Given the description of an element on the screen output the (x, y) to click on. 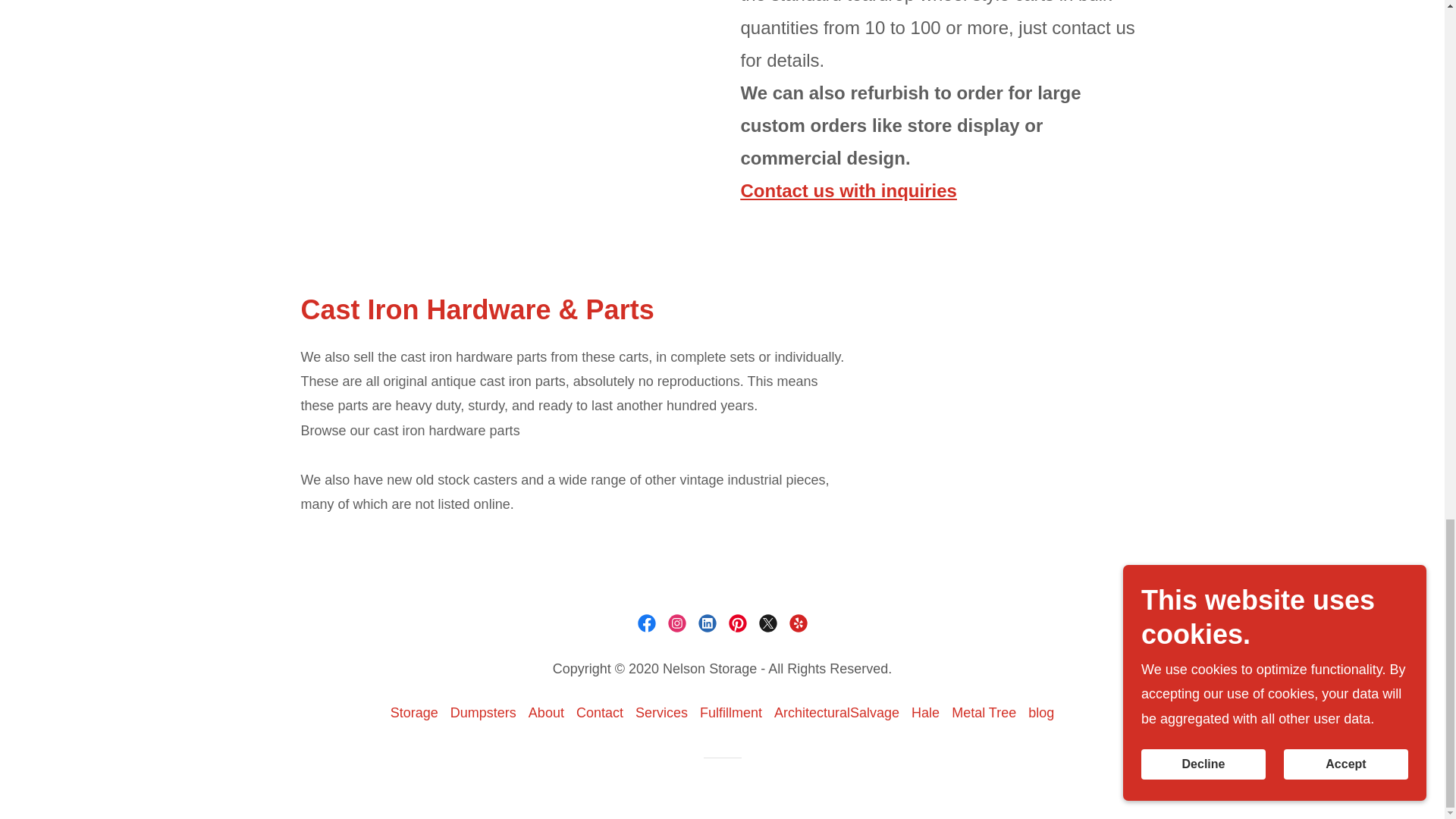
Storage (414, 713)
Dumpsters (483, 713)
Services (661, 713)
Contact (599, 713)
About (546, 713)
Contact us with inquiries (847, 190)
